Given the description of an element on the screen output the (x, y) to click on. 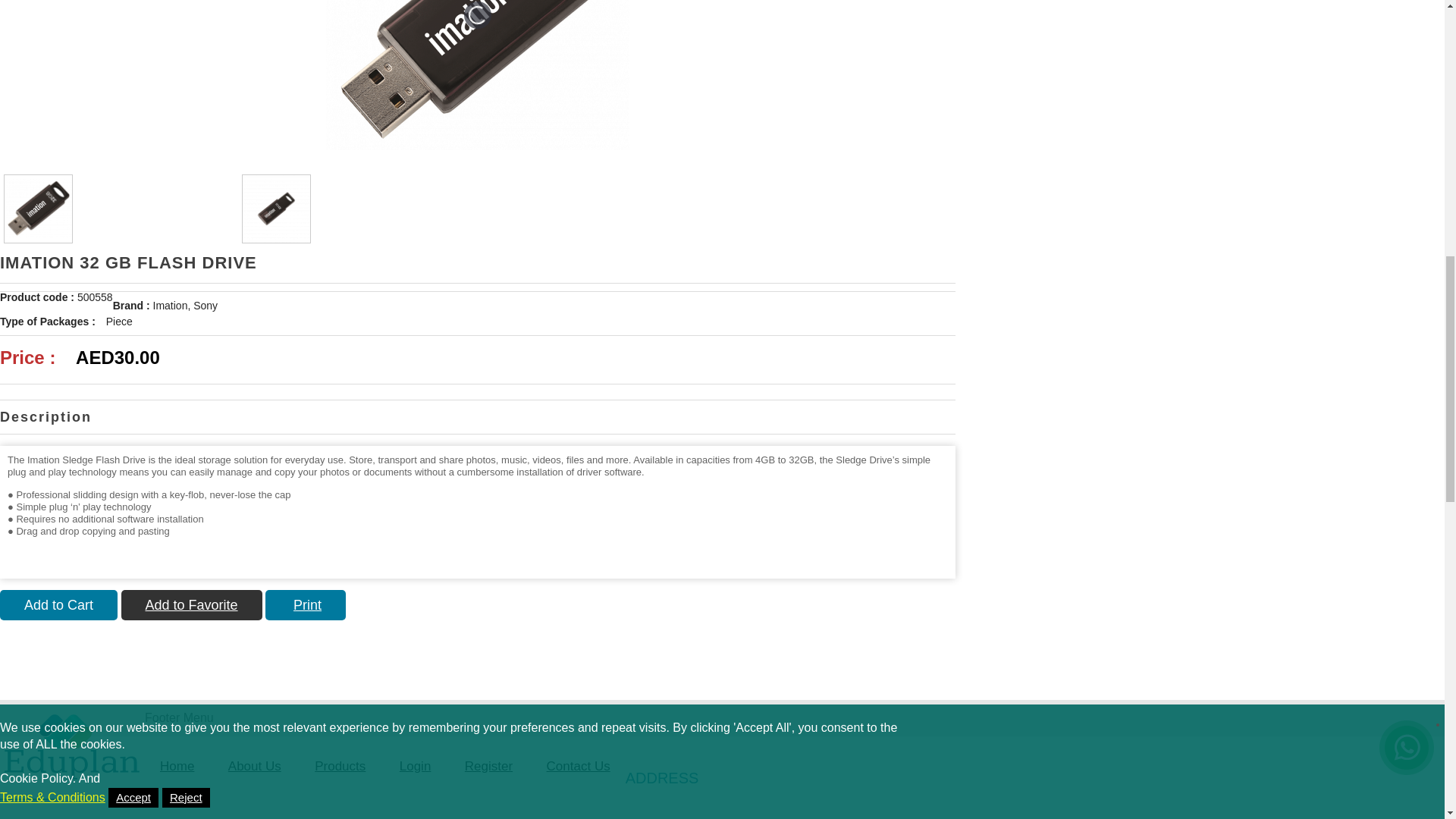
Add to Cart (58, 604)
